Given the description of an element on the screen output the (x, y) to click on. 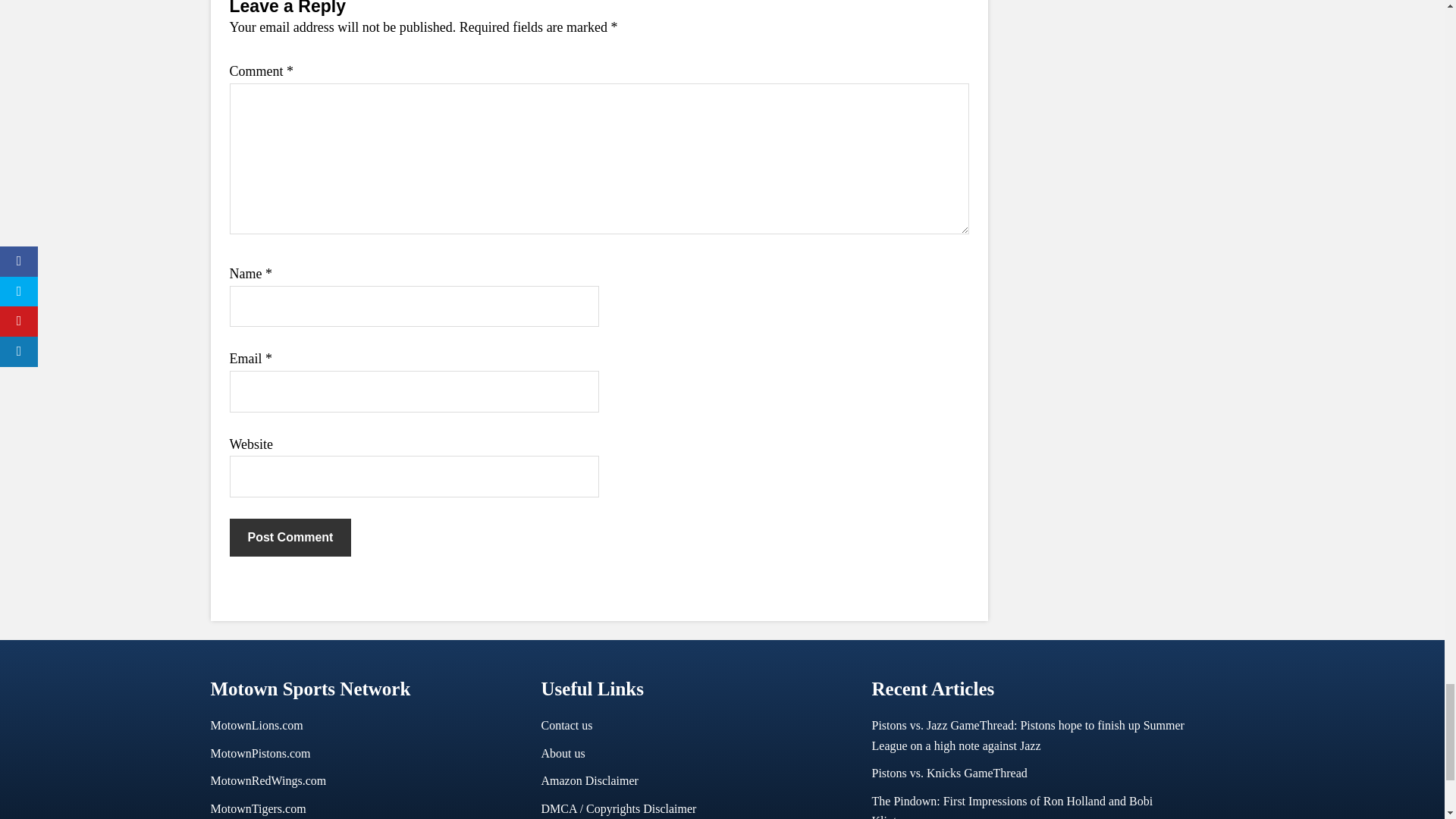
Post Comment (289, 537)
